Given the description of an element on the screen output the (x, y) to click on. 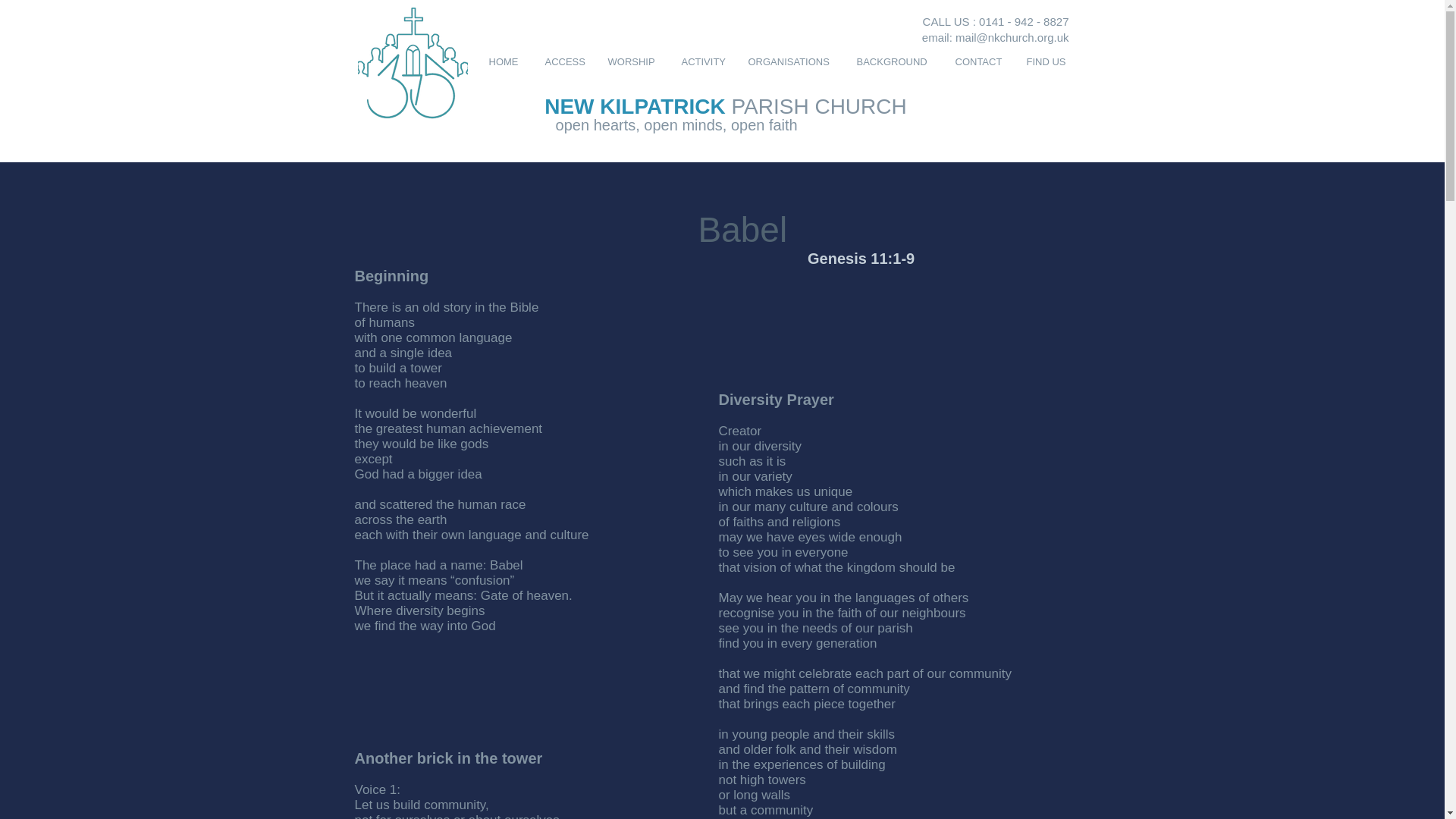
NK Logo no words.jpg (412, 62)
HOME (504, 61)
ACCESS (563, 61)
CONTACT (978, 61)
FIND US (1047, 61)
